Given the description of an element on the screen output the (x, y) to click on. 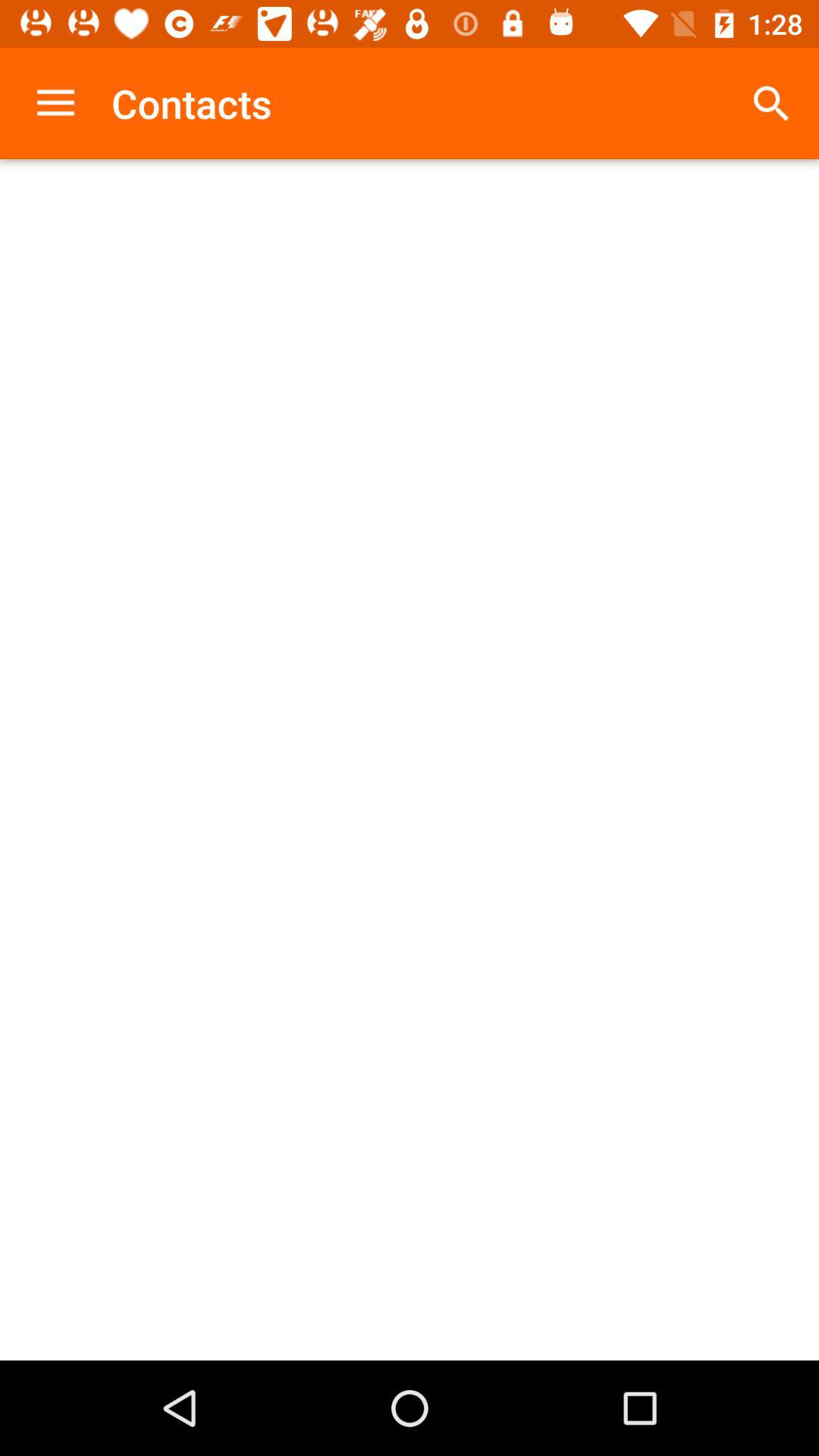
open the icon to the right of contacts app (771, 103)
